Given the description of an element on the screen output the (x, y) to click on. 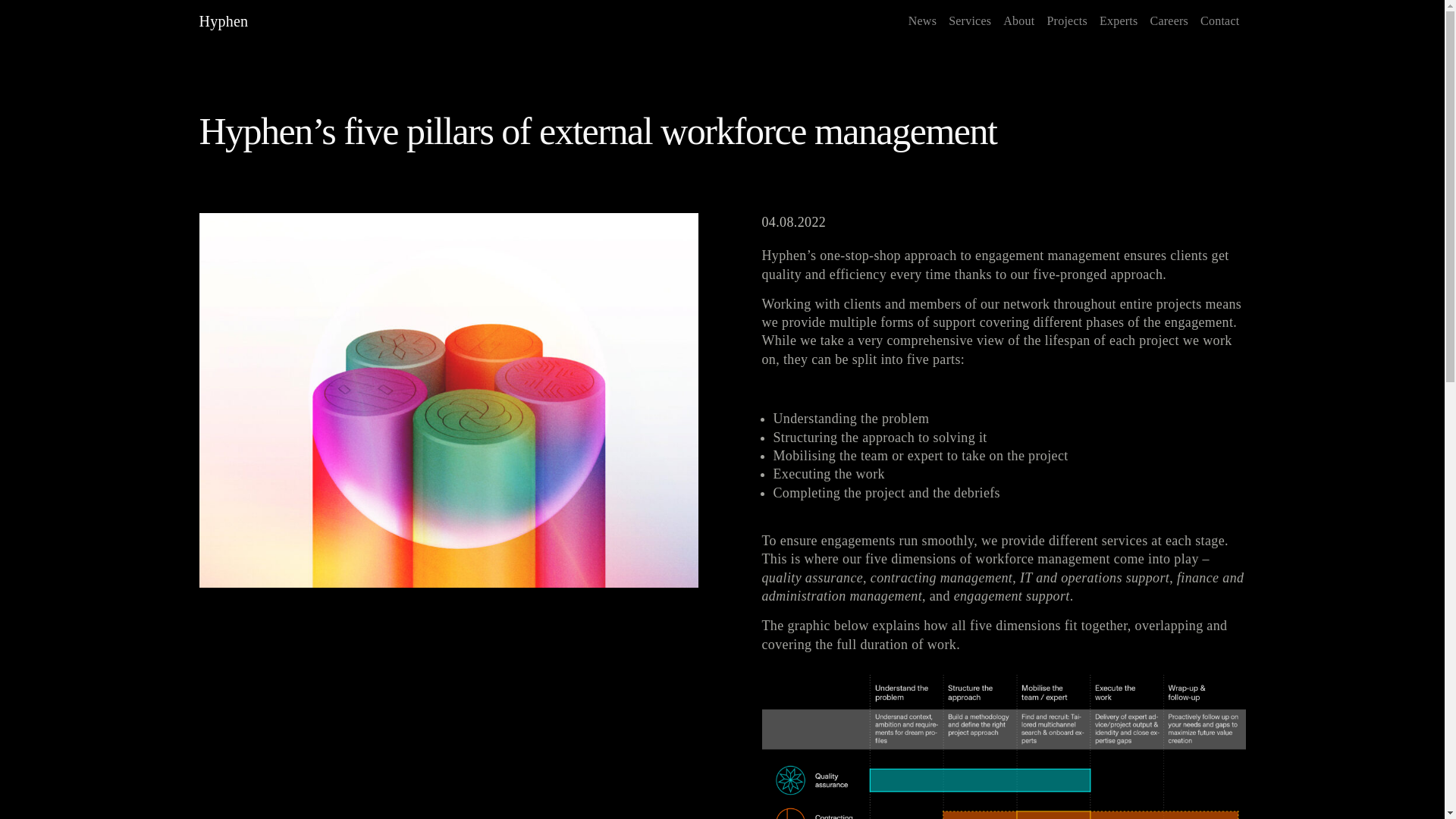
Experts (1118, 20)
Contact (1218, 20)
Projects (1067, 20)
News (922, 20)
Hyphen (222, 20)
Careers (1167, 20)
About (1019, 20)
Services (969, 20)
